Given the description of an element on the screen output the (x, y) to click on. 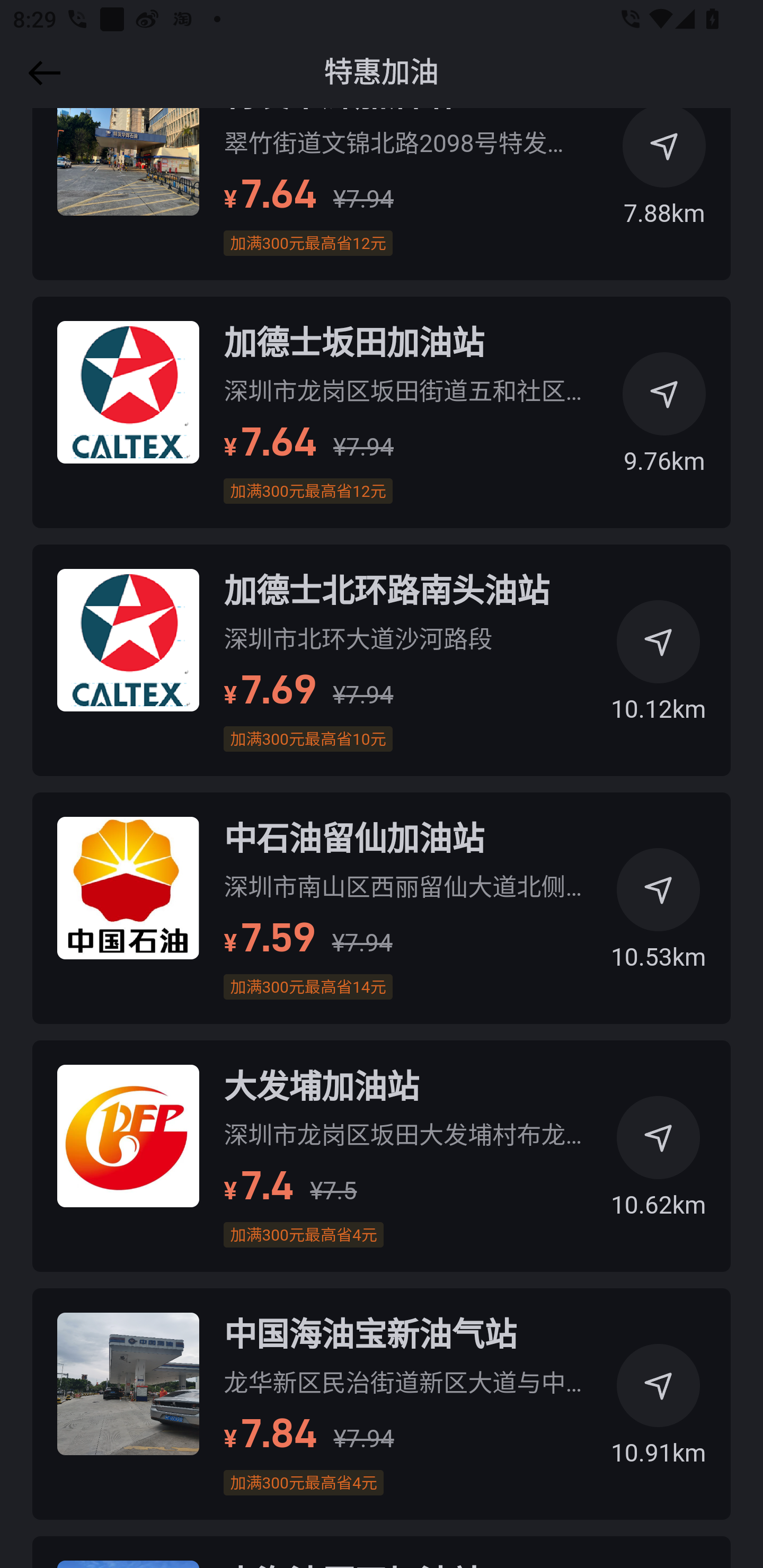
特惠加油 (381, 73)
